Given the description of an element on the screen output the (x, y) to click on. 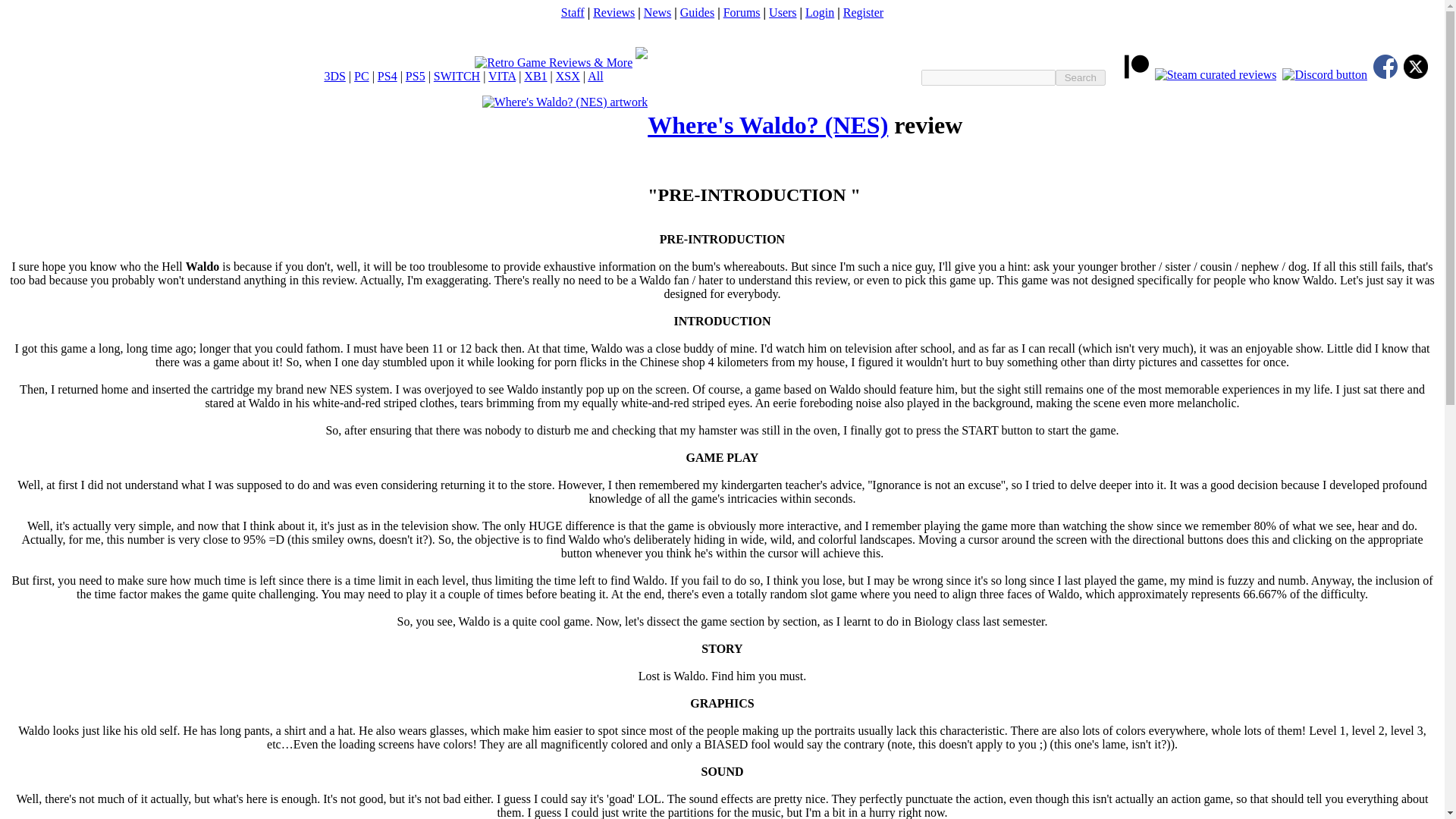
HonestGamers on Facebook (1385, 74)
Switch Game Reviews (456, 75)
News (657, 11)
Login (819, 11)
Reviews (613, 11)
Users (782, 11)
User features (782, 11)
PlayStation 5 Game Reviews (415, 75)
SWITCH (456, 75)
Register for a free user account (863, 11)
PS4 (387, 75)
HonestGamers forums (741, 11)
Support HonestGamers contributors on Patreon (1136, 74)
Staff (572, 11)
HonestGamers curated reviews on Steam (1215, 74)
